Given the description of an element on the screen output the (x, y) to click on. 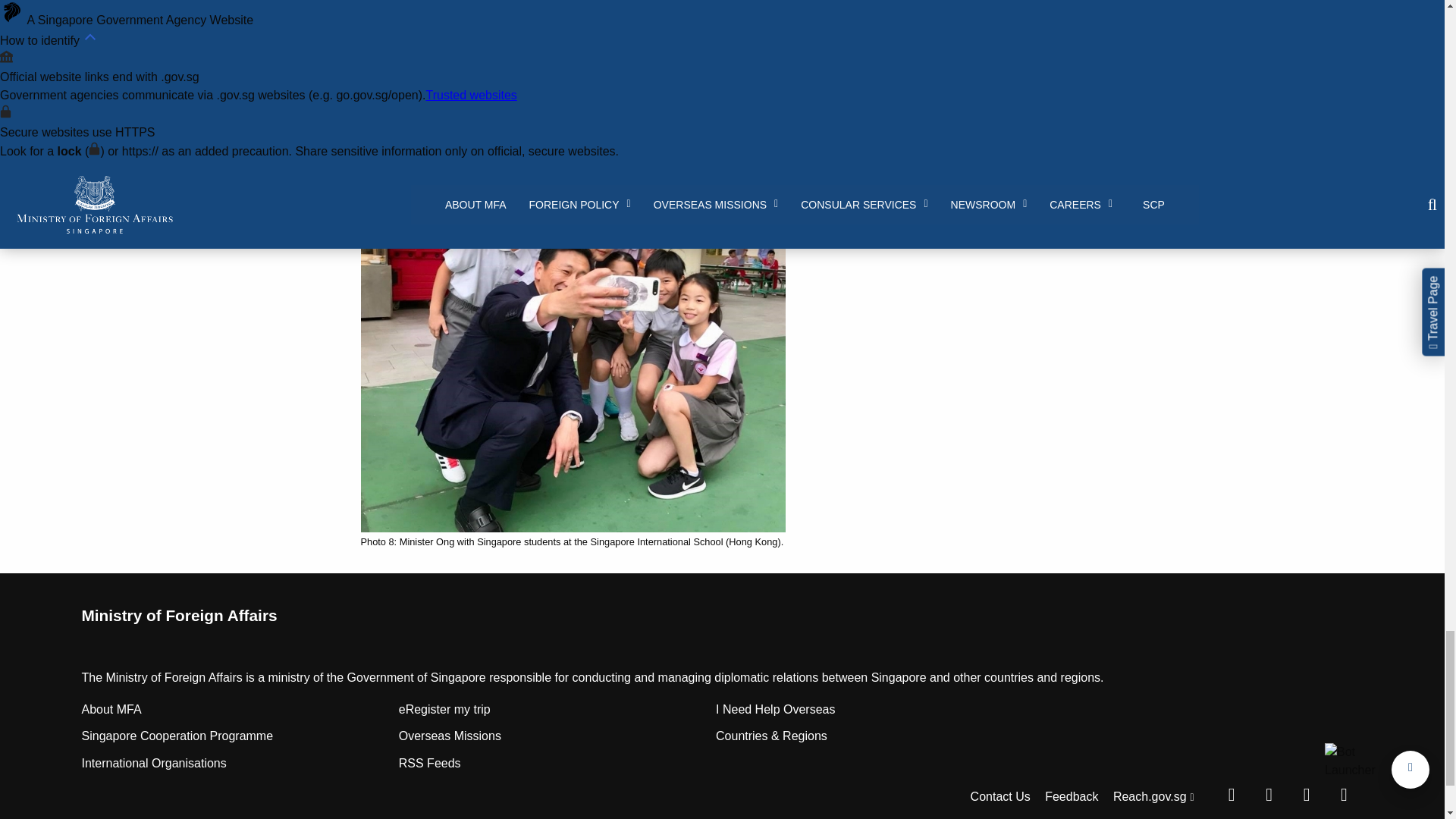
MFA Instagram (1306, 794)
MFA Facebook (1230, 794)
MFA Email (1342, 794)
MFA Twitter (1268, 794)
OKY7 (573, 49)
